Given the description of an element on the screen output the (x, y) to click on. 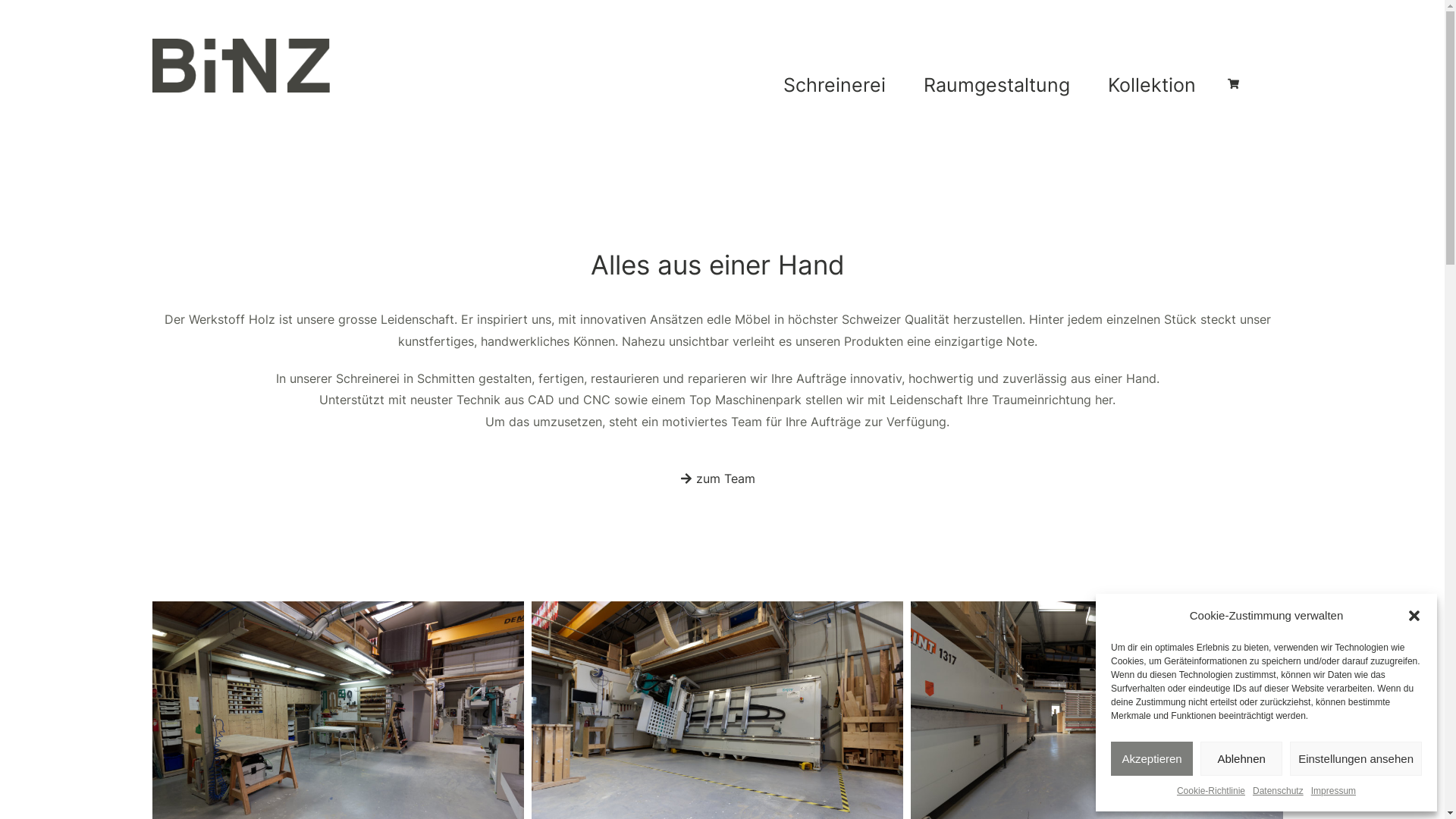
Datenschutz Element type: text (1277, 791)
zum Team Element type: text (717, 479)
Ablehnen Element type: text (1241, 758)
Einstellungen ansehen Element type: text (1355, 758)
Raumgestaltung Element type: text (1000, 84)
Akzeptieren Element type: text (1151, 758)
Cookie-Richtlinie Element type: text (1210, 791)
Impressum Element type: text (1333, 791)
Kollektion Element type: text (1155, 84)
Schreinerei Element type: text (838, 84)
